Given the description of an element on the screen output the (x, y) to click on. 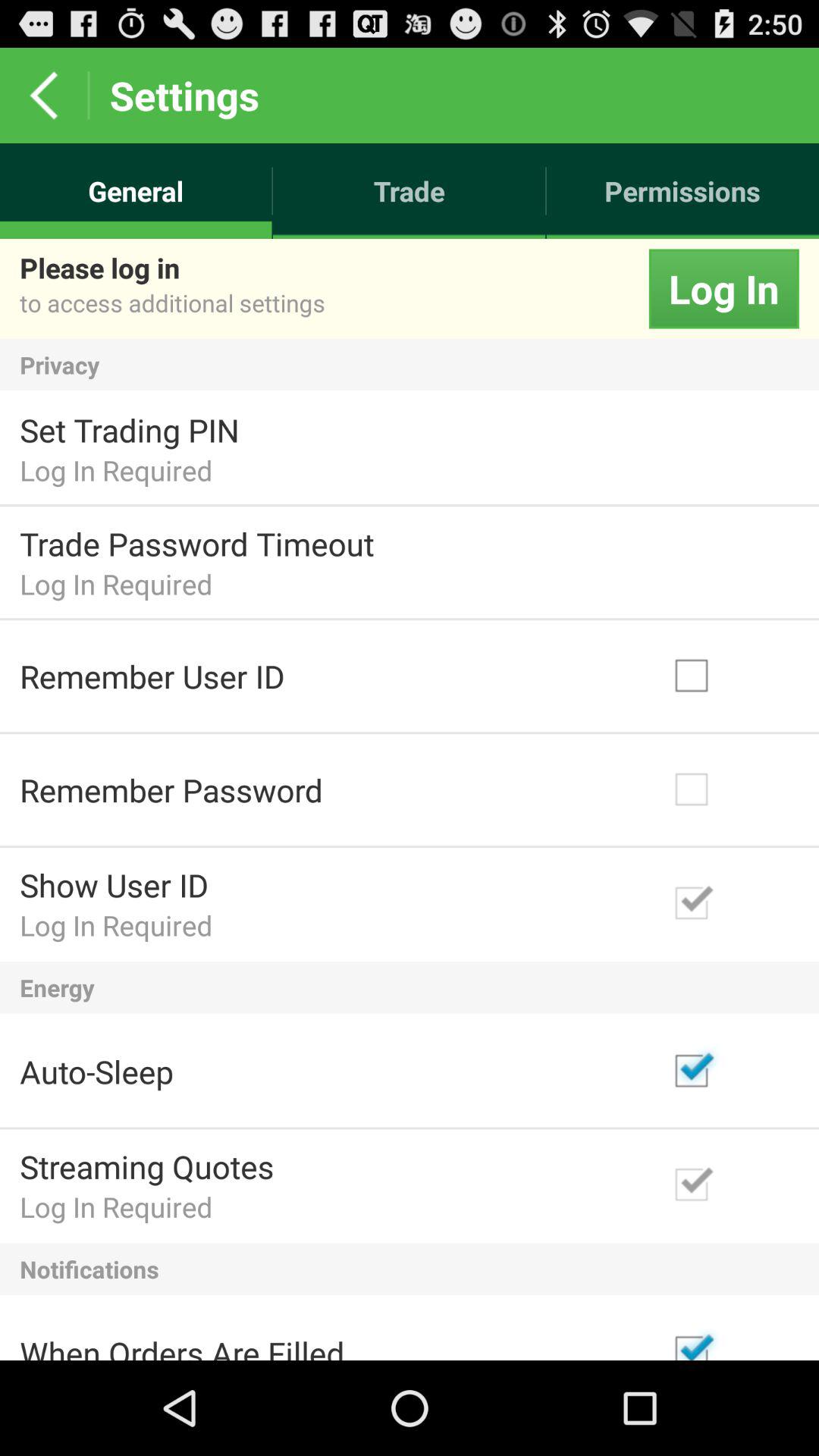
tap the auto-sleep item (96, 1071)
